Given the description of an element on the screen output the (x, y) to click on. 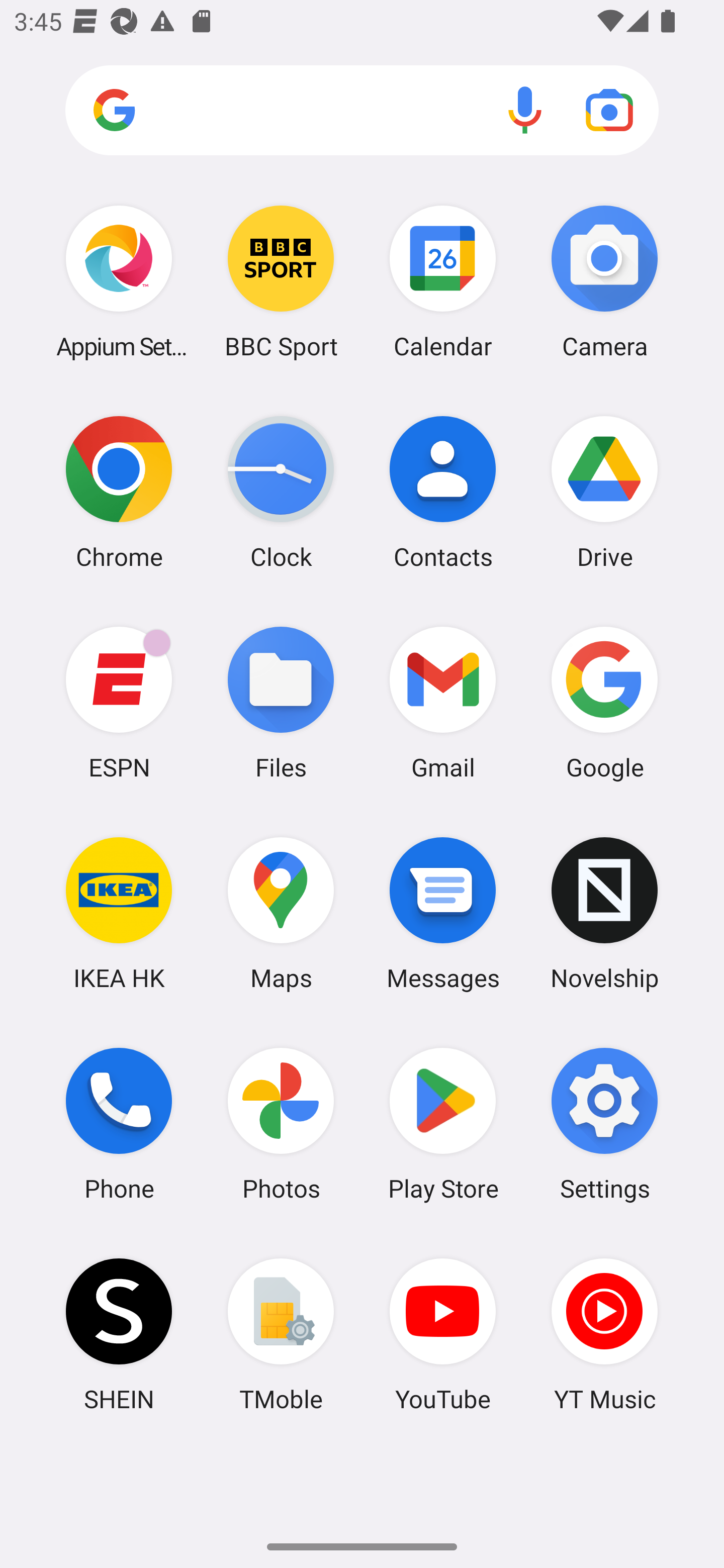
Search apps, web and more (361, 110)
Voice search (524, 109)
Google Lens (608, 109)
Appium Settings (118, 281)
BBC Sport (280, 281)
Calendar (443, 281)
Camera (604, 281)
Chrome (118, 492)
Clock (280, 492)
Contacts (443, 492)
Drive (604, 492)
ESPN ESPN has 3 notifications (118, 702)
Files (280, 702)
Gmail (443, 702)
Google (604, 702)
IKEA HK (118, 913)
Maps (280, 913)
Messages (443, 913)
Novelship (604, 913)
Phone (118, 1124)
Photos (280, 1124)
Play Store (443, 1124)
Settings (604, 1124)
SHEIN (118, 1334)
TMoble (280, 1334)
YouTube (443, 1334)
YT Music (604, 1334)
